Given the description of an element on the screen output the (x, y) to click on. 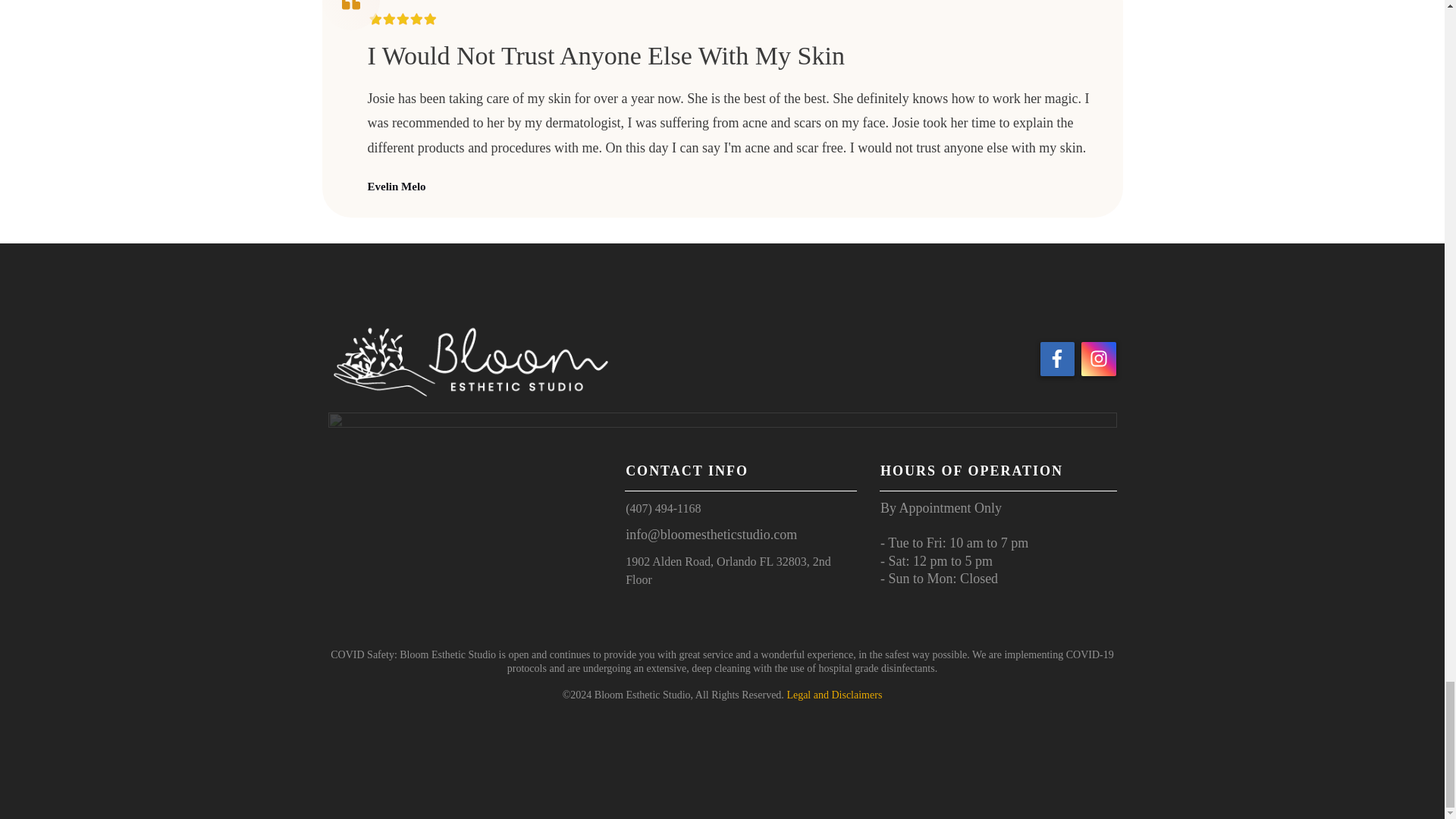
Legal and Disclaimers (834, 695)
Google Map (465, 537)
Logo-Stripe-White (721, 423)
